Given the description of an element on the screen output the (x, y) to click on. 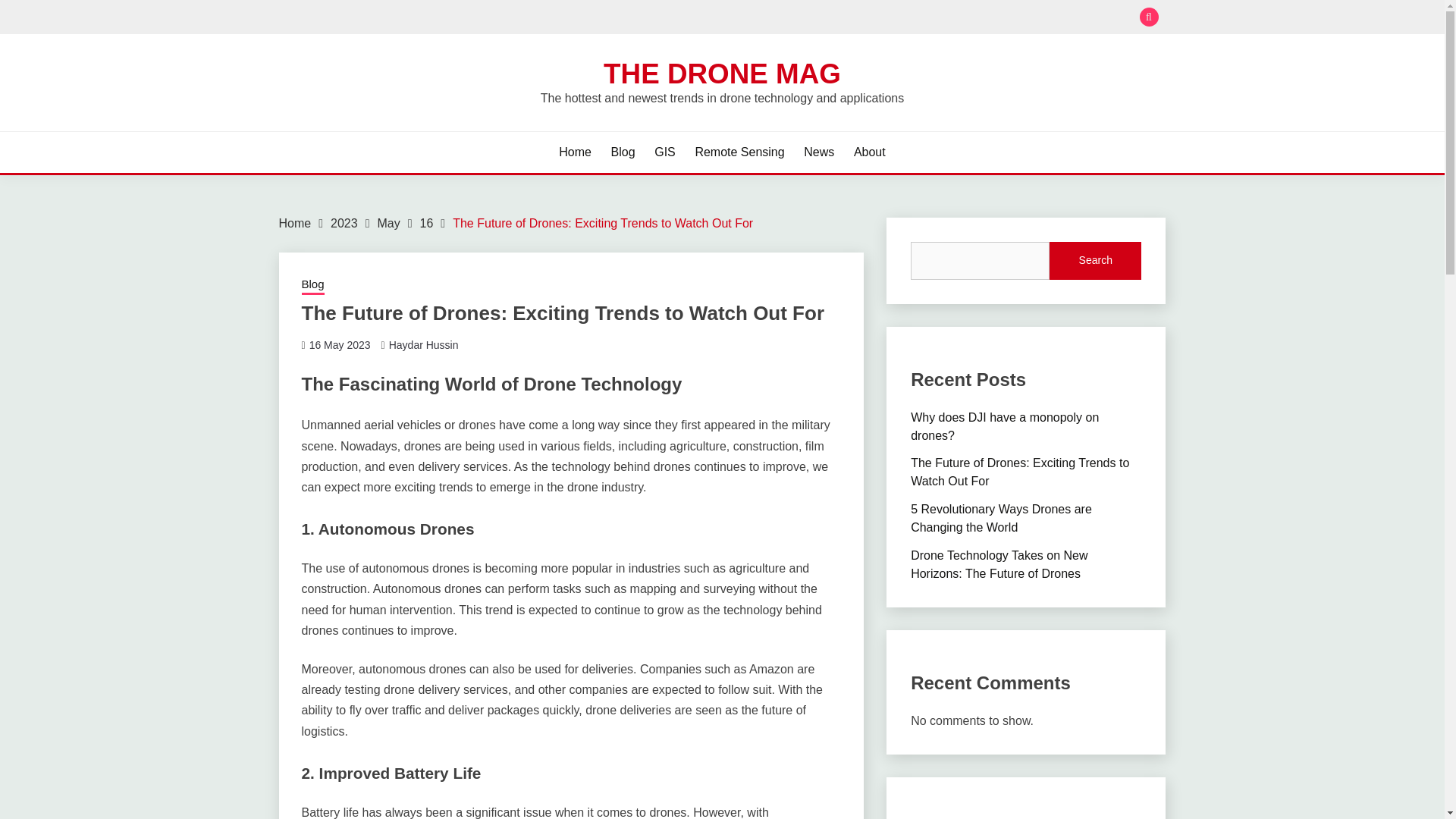
Remote Sensing (739, 152)
Home (575, 152)
Why does DJI have a monopoly on drones? (1005, 426)
5 Revolutionary Ways Drones are Changing the World (1001, 517)
Search (832, 18)
Home (295, 223)
16 (426, 223)
GIS (664, 152)
Drone Technology Takes on New Horizons: The Future of Drones (999, 563)
Haydar Hussin (423, 345)
Blog (312, 285)
2023 (344, 223)
News (818, 152)
About (869, 152)
Blog (622, 152)
